Given the description of an element on the screen output the (x, y) to click on. 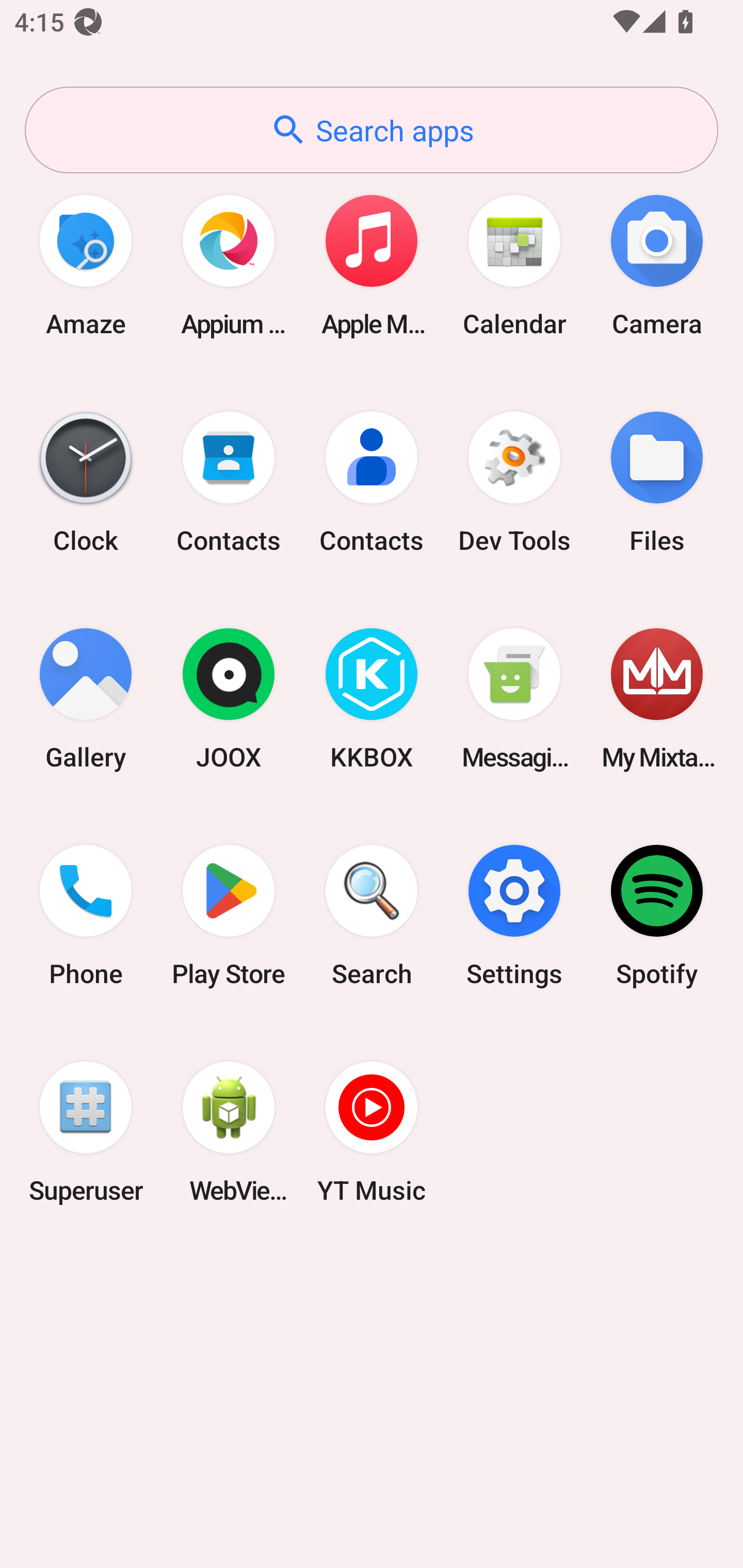
  Search apps (371, 130)
Amaze (85, 264)
Appium Settings (228, 264)
Apple Music (371, 264)
Calendar (514, 264)
Camera (656, 264)
Clock (85, 482)
Contacts (228, 482)
Contacts (371, 482)
Dev Tools (514, 482)
Files (656, 482)
Gallery (85, 699)
JOOX (228, 699)
KKBOX (371, 699)
Messaging (514, 699)
My Mixtapez (656, 699)
Phone (85, 915)
Play Store (228, 915)
Search (371, 915)
Settings (514, 915)
Spotify (656, 915)
Superuser (85, 1131)
WebView Browser Tester (228, 1131)
YT Music (371, 1131)
